Given the description of an element on the screen output the (x, y) to click on. 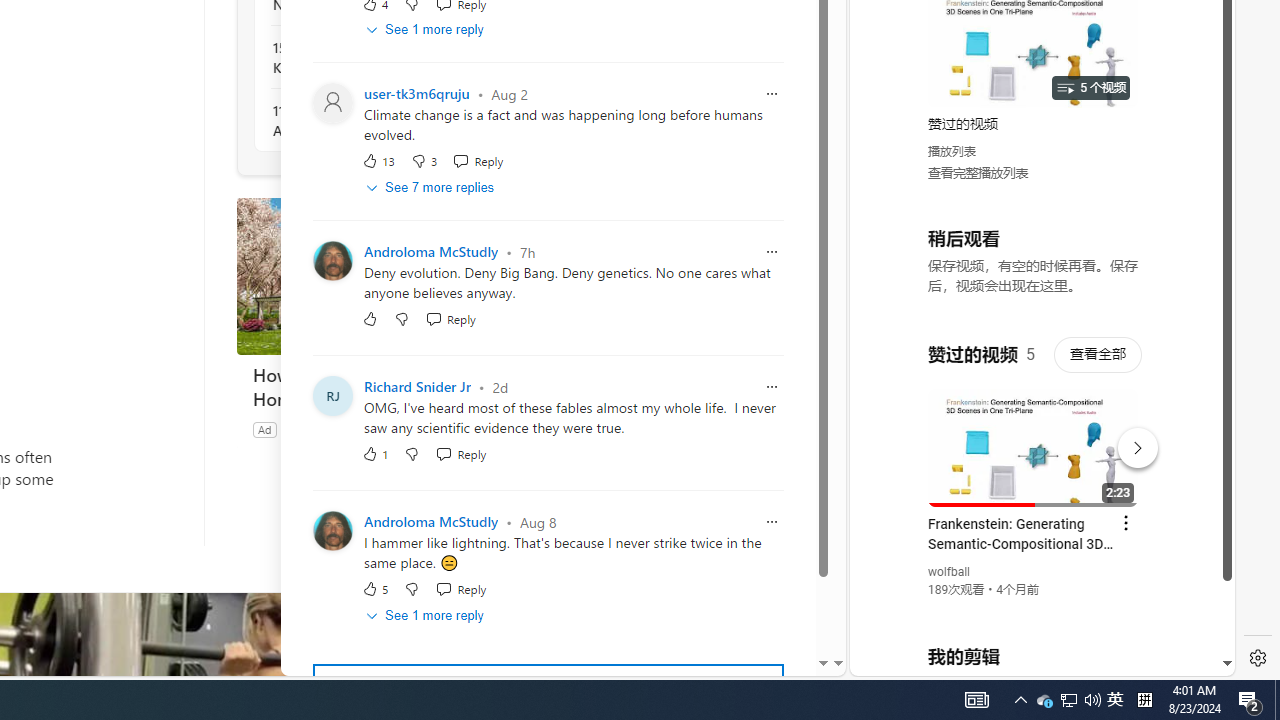
See 1 more reply (425, 615)
15 Rare Dog Breeds You Never Knew Existed (381, 57)
Class: dict_pnIcon rms_img (1028, 660)
LendingTree (313, 429)
Reply Reply Comment (461, 588)
Actions for this site (1131, 443)
Androloma McStudly (431, 521)
YouTube - YouTube (1034, 266)
